Given the description of an element on the screen output the (x, y) to click on. 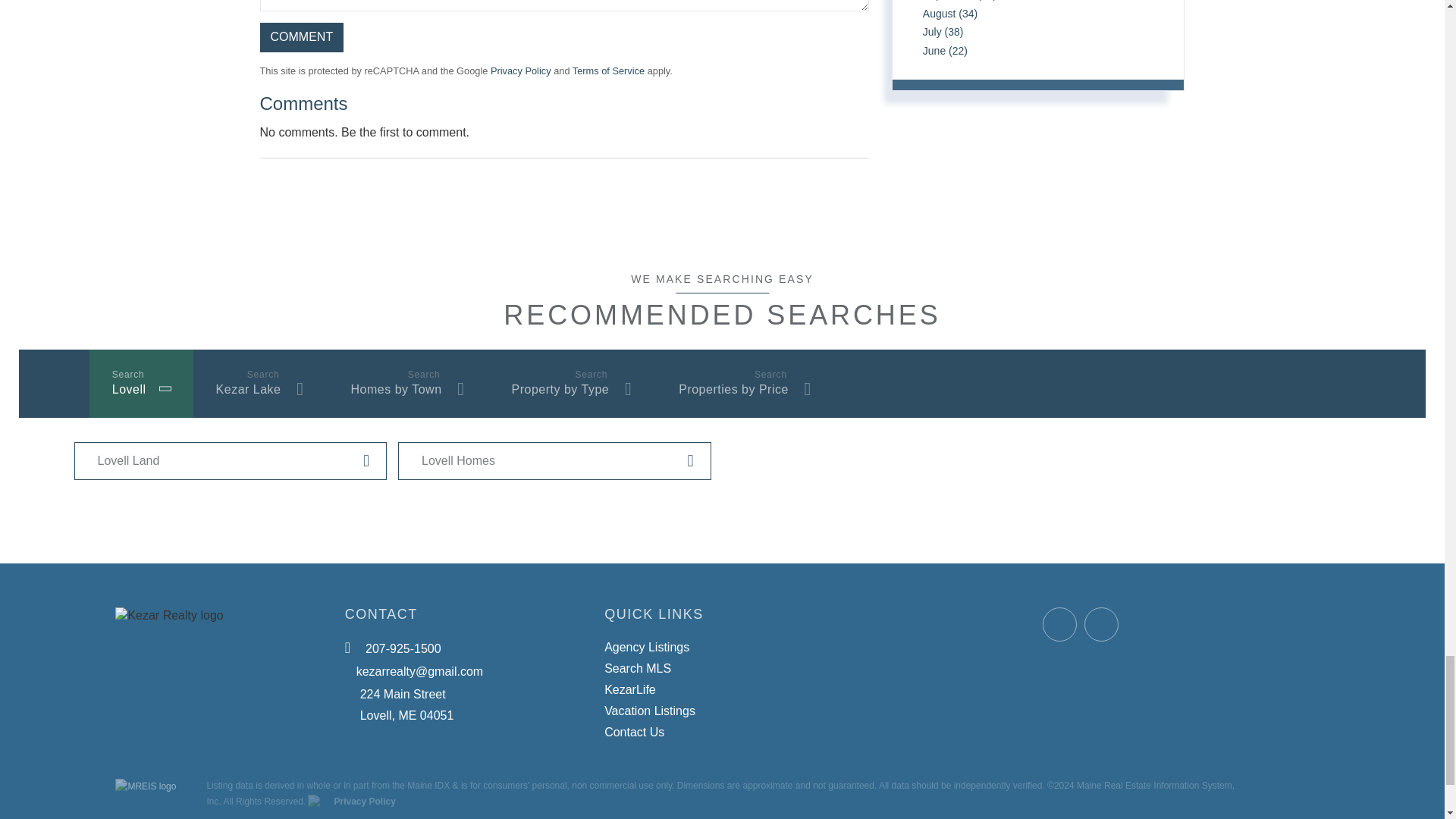
Lovell Land (230, 460)
Comment (301, 37)
Lovell Homes (554, 460)
